Given the description of an element on the screen output the (x, y) to click on. 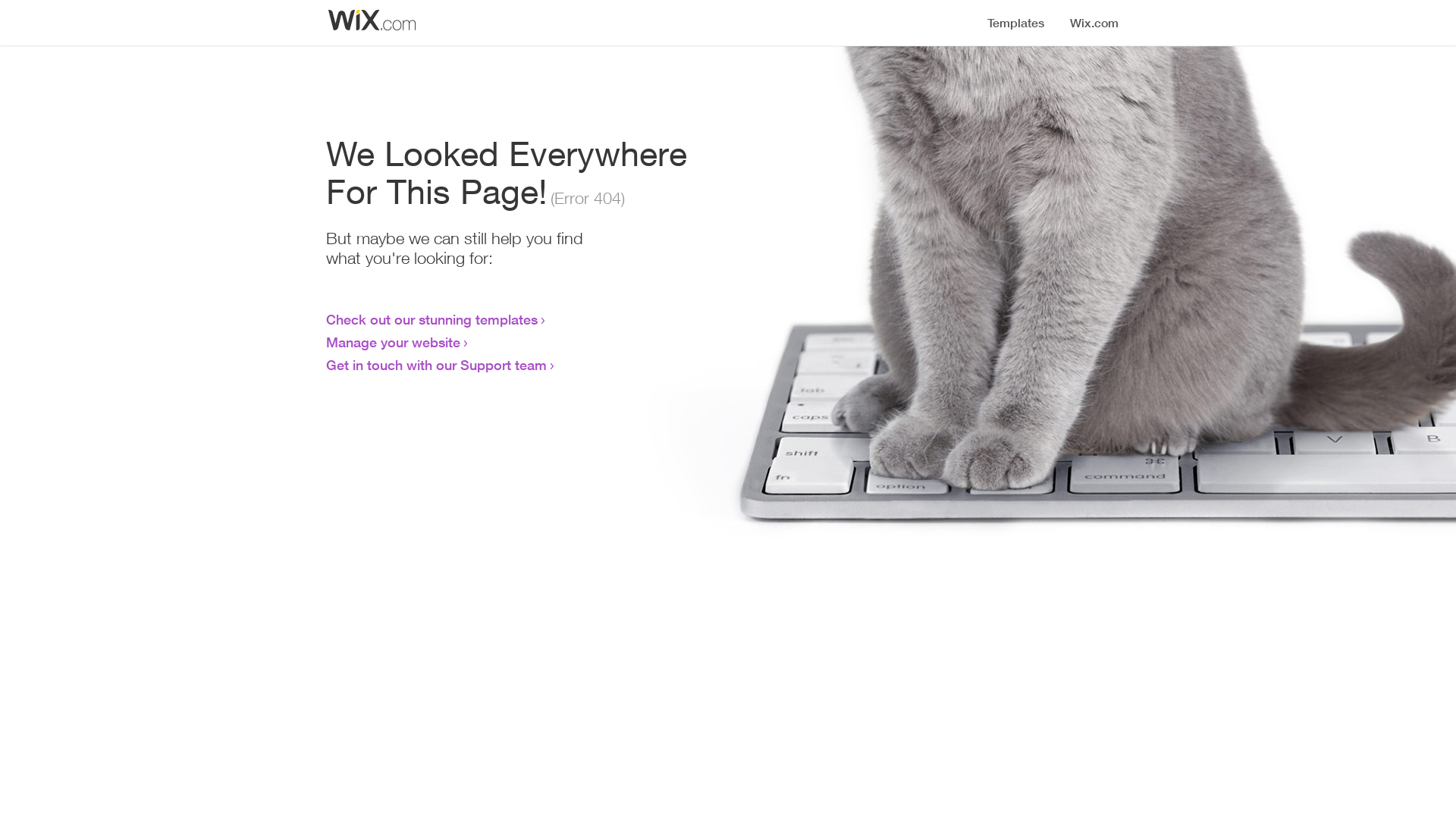
Check out our stunning templates Element type: text (431, 318)
Get in touch with our Support team Element type: text (436, 364)
Manage your website Element type: text (393, 341)
